Given the description of an element on the screen output the (x, y) to click on. 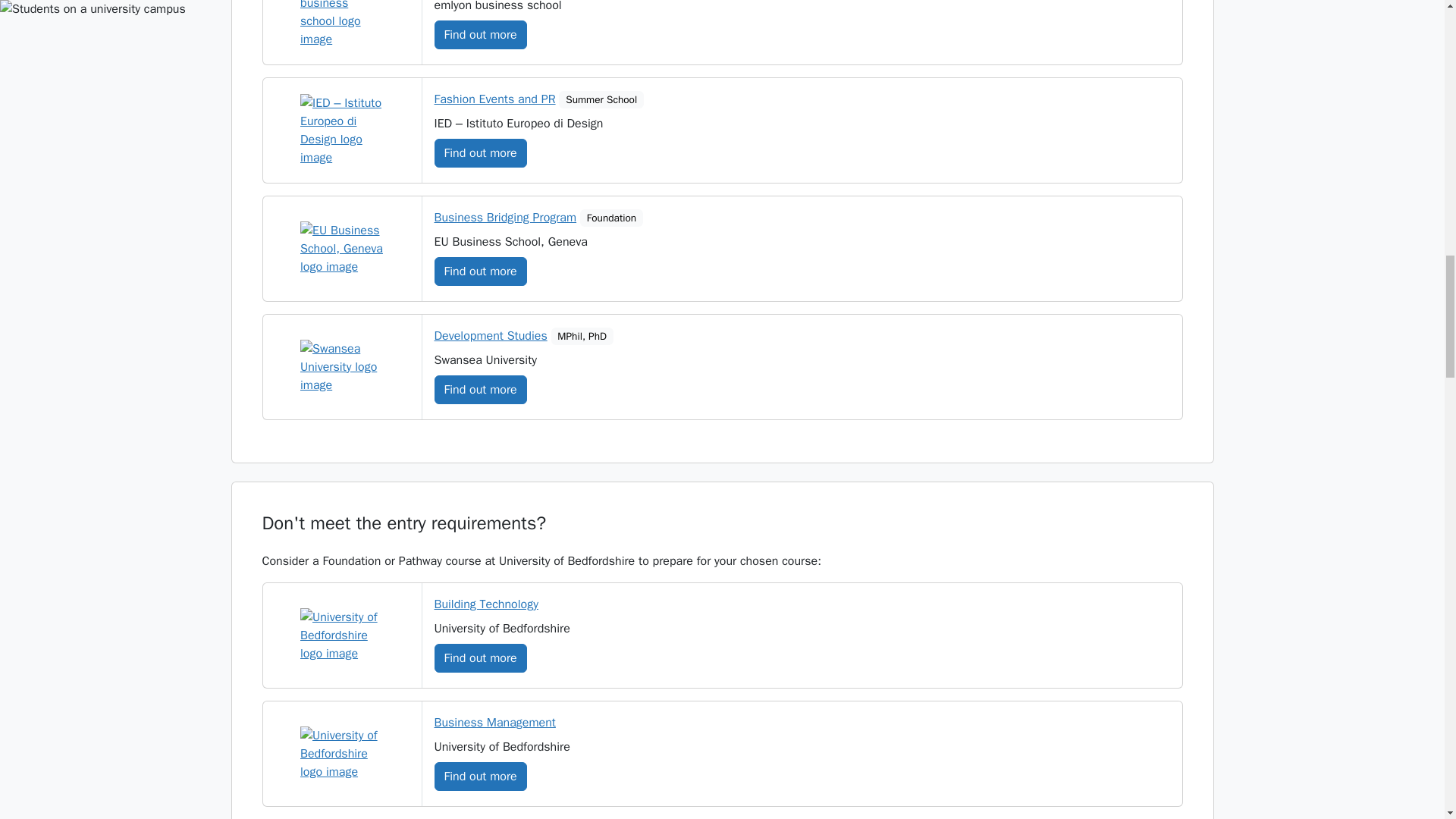
emlyon business school (341, 24)
Swansea University (341, 366)
EU Business School, Geneva (341, 248)
University of Bedfordshire (341, 635)
University of Bedfordshire (341, 753)
